Given the description of an element on the screen output the (x, y) to click on. 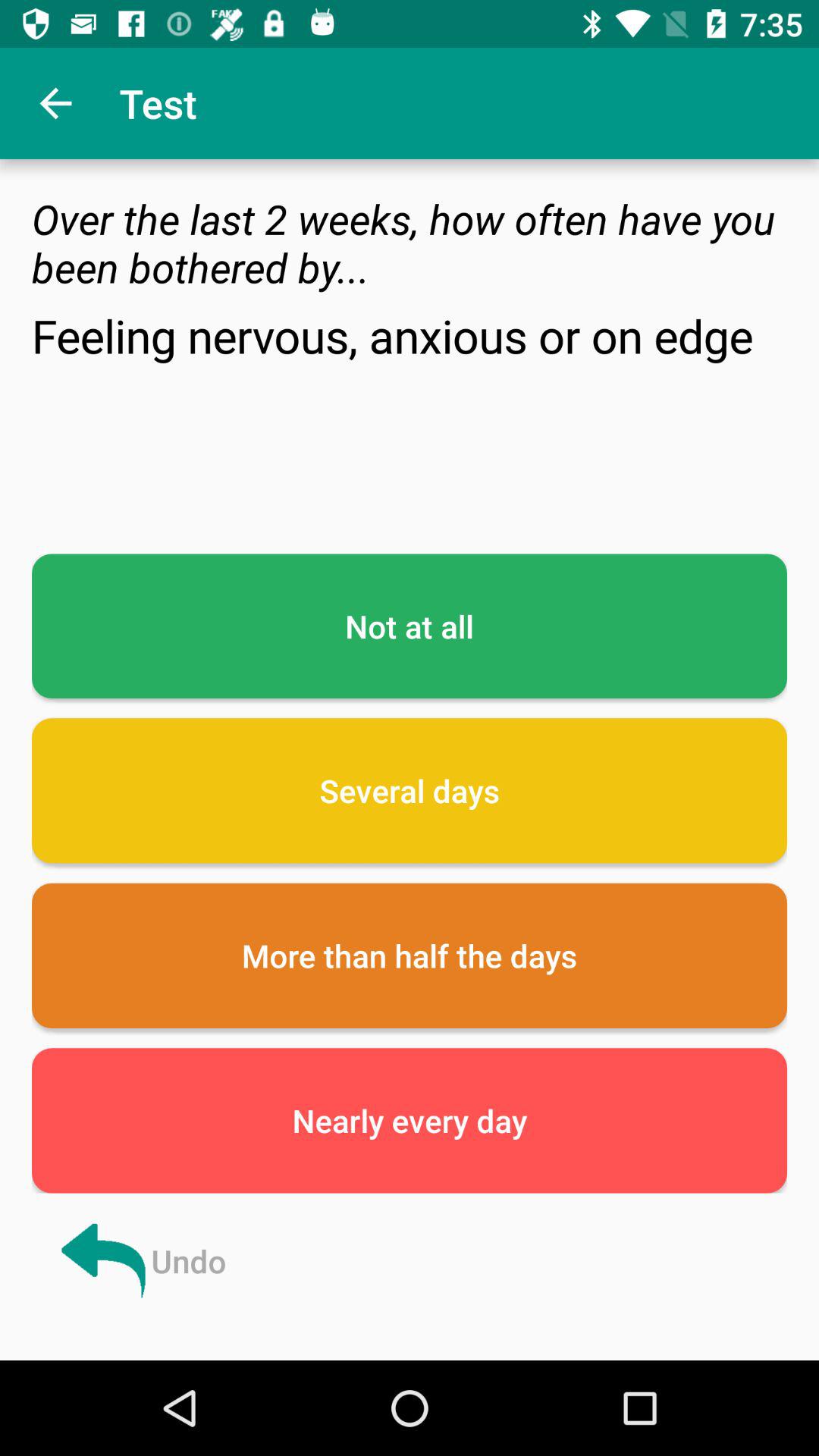
launch the item above the several days item (409, 625)
